Given the description of an element on the screen output the (x, y) to click on. 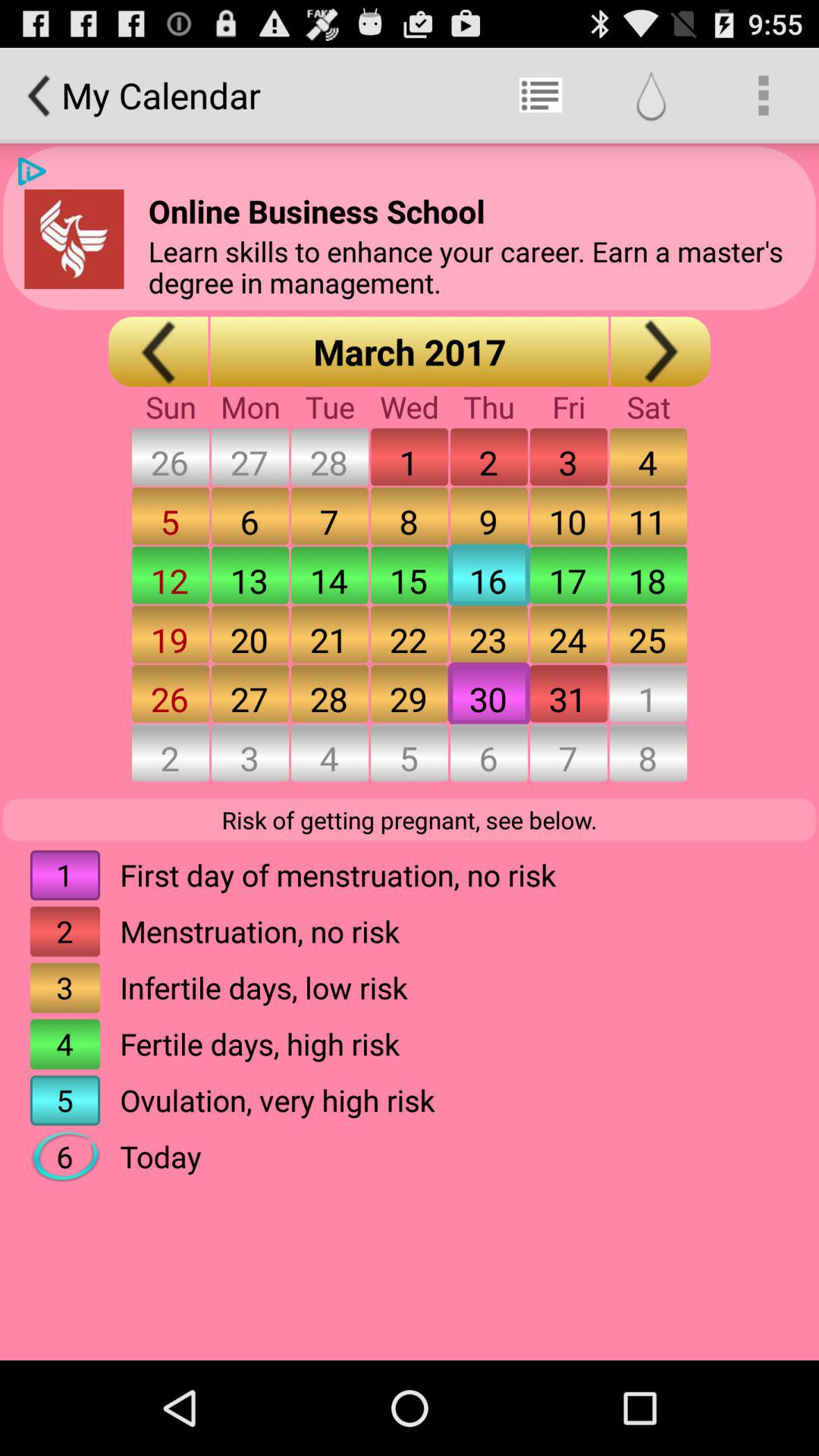
next month (660, 351)
